Given the description of an element on the screen output the (x, y) to click on. 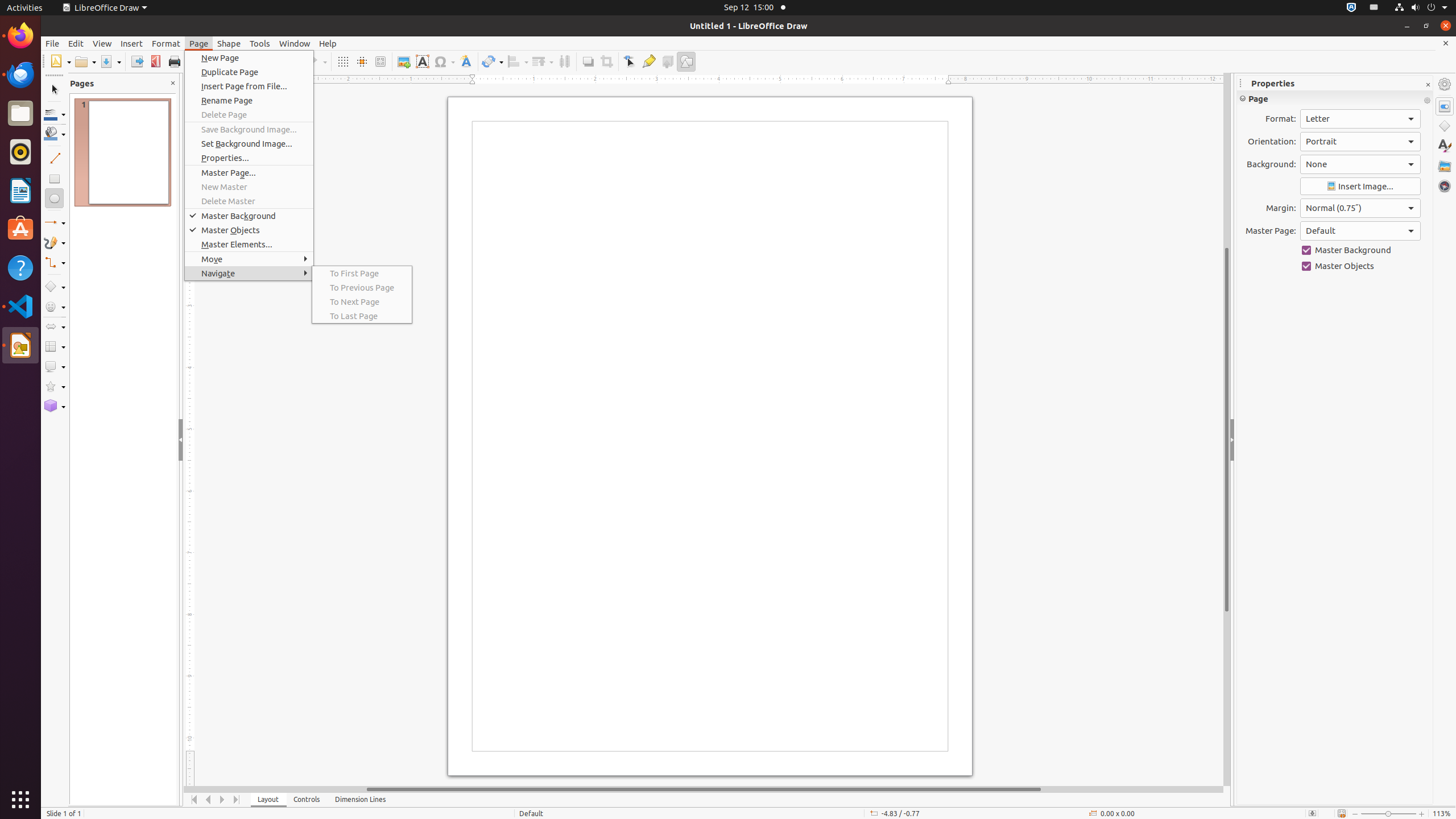
PDF Element type: push-button (155, 61)
Page Element type: menu (198, 43)
File Element type: menu (51, 43)
Close Pane Element type: push-button (172, 82)
Format Element type: menu (165, 43)
